Given the description of an element on the screen output the (x, y) to click on. 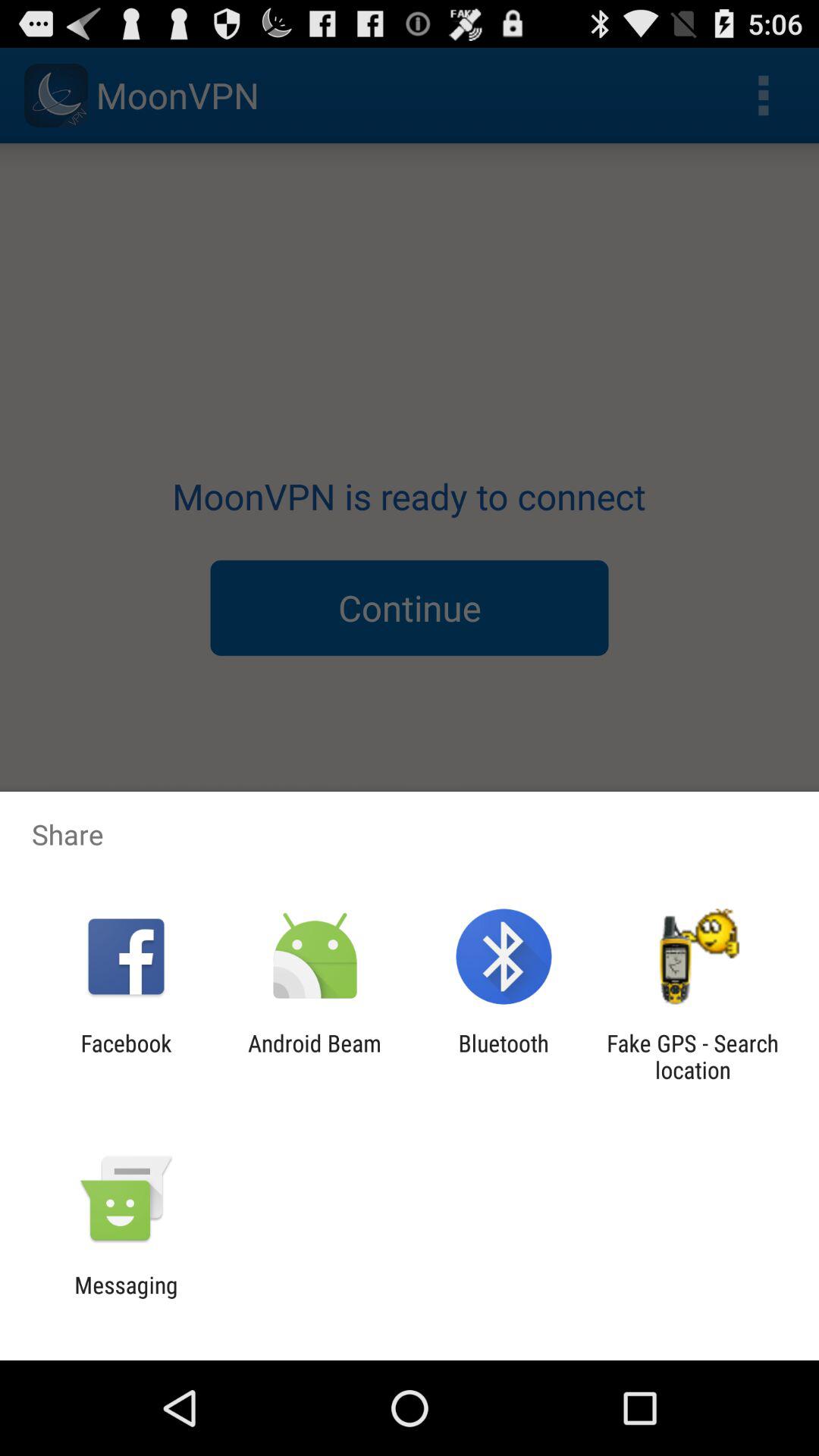
turn off the icon next to bluetooth (692, 1056)
